Given the description of an element on the screen output the (x, y) to click on. 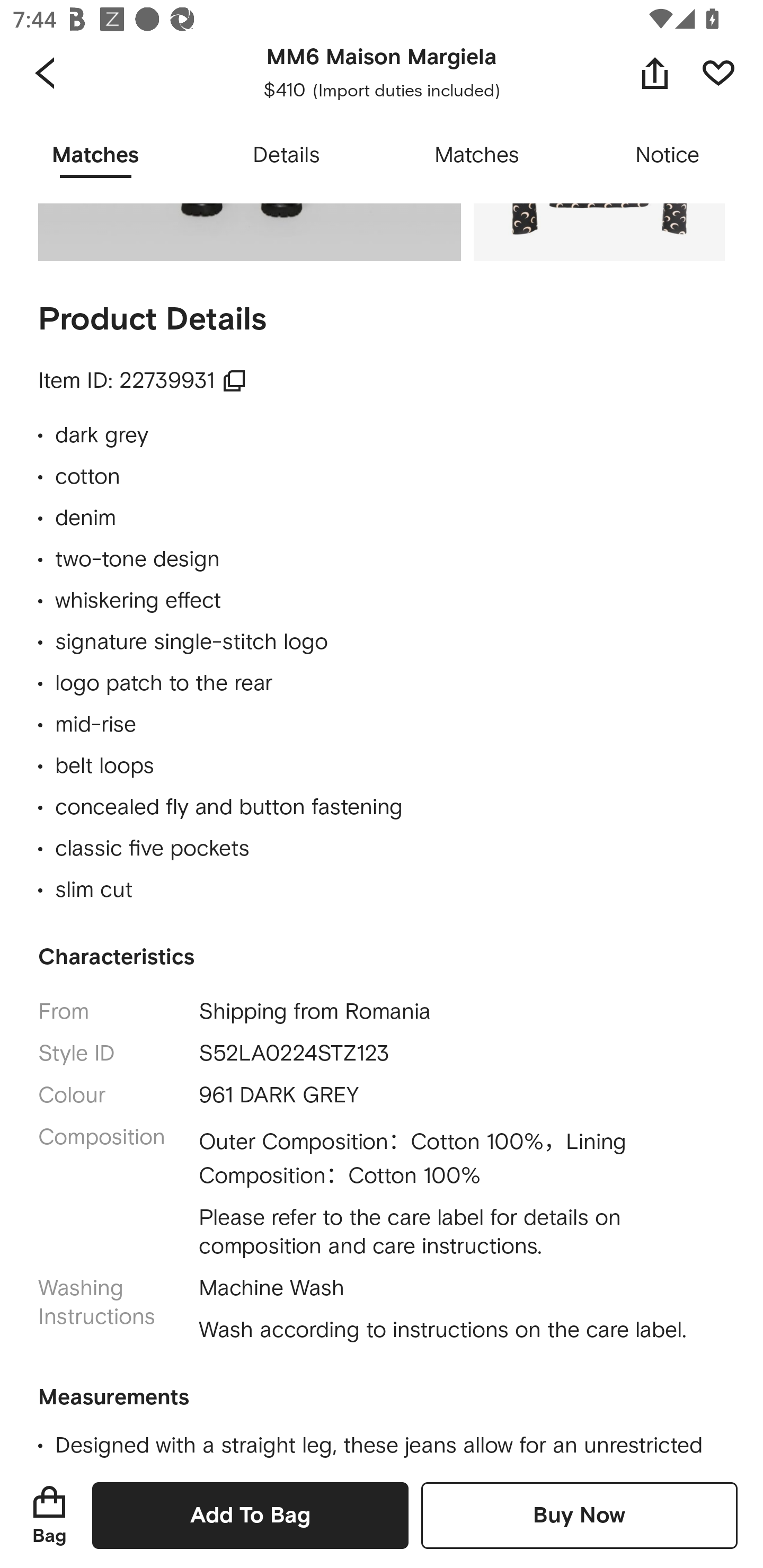
Details (285, 155)
Matches (476, 155)
Notice (667, 155)
Item ID: 22739931 (142, 380)
Bag (49, 1515)
Add To Bag (250, 1515)
Buy Now (579, 1515)
